Given the description of an element on the screen output the (x, y) to click on. 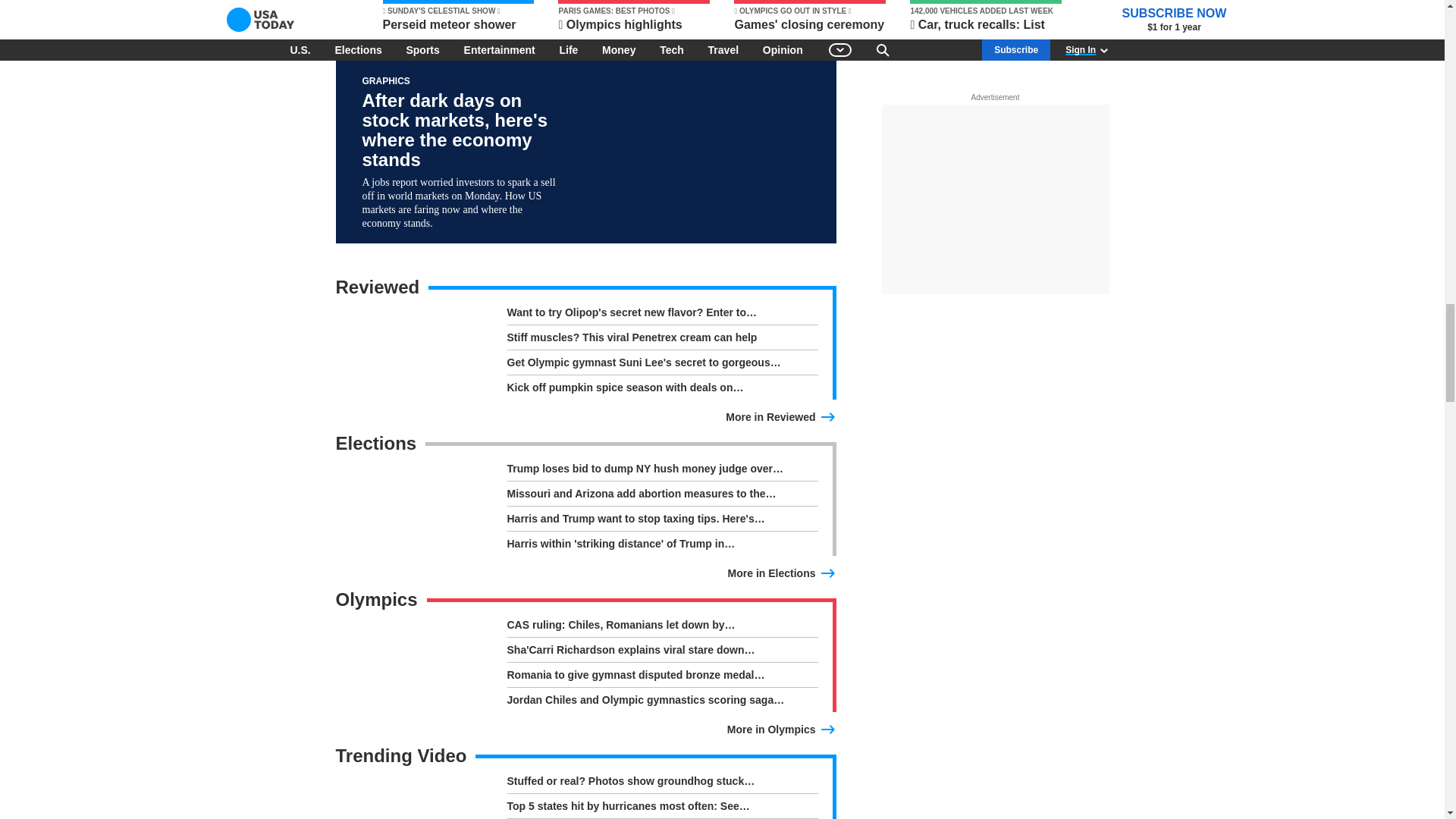
Harris within 'striking distance' of Trump in Florida (661, 543)
